Given the description of an element on the screen output the (x, y) to click on. 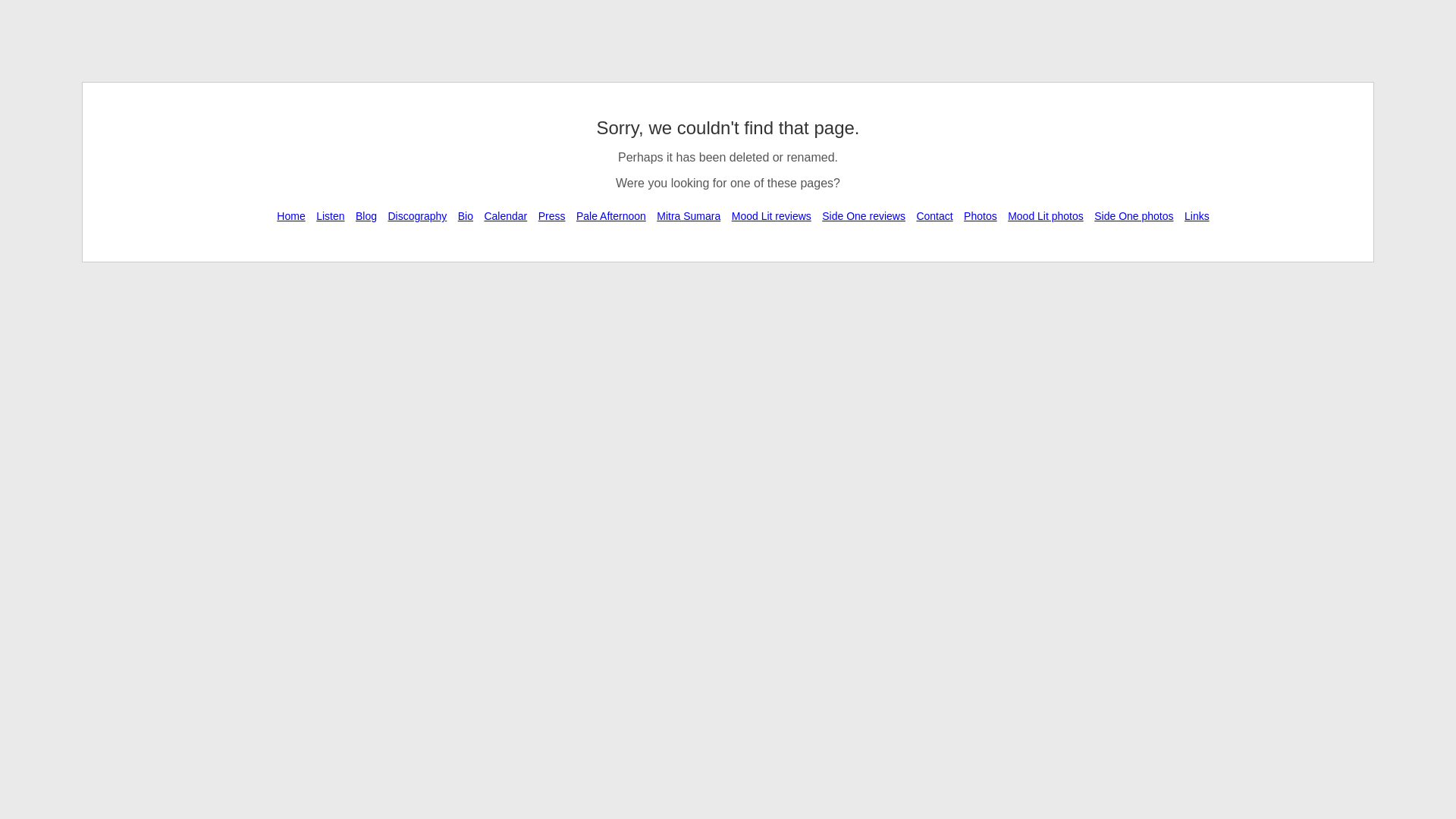
Press Element type: text (551, 216)
Side One photos Element type: text (1133, 216)
Mitra Sumara Element type: text (688, 216)
Calendar Element type: text (505, 216)
Mood Lit photos Element type: text (1045, 216)
Blog Element type: text (365, 216)
Pale Afternoon Element type: text (610, 216)
Contact Element type: text (934, 216)
Side One reviews Element type: text (863, 216)
Home Element type: text (290, 216)
Mood Lit reviews Element type: text (771, 216)
Discography Element type: text (416, 216)
Photos Element type: text (980, 216)
Links Element type: text (1196, 216)
Listen Element type: text (330, 216)
Bio Element type: text (465, 216)
